Given the description of an element on the screen output the (x, y) to click on. 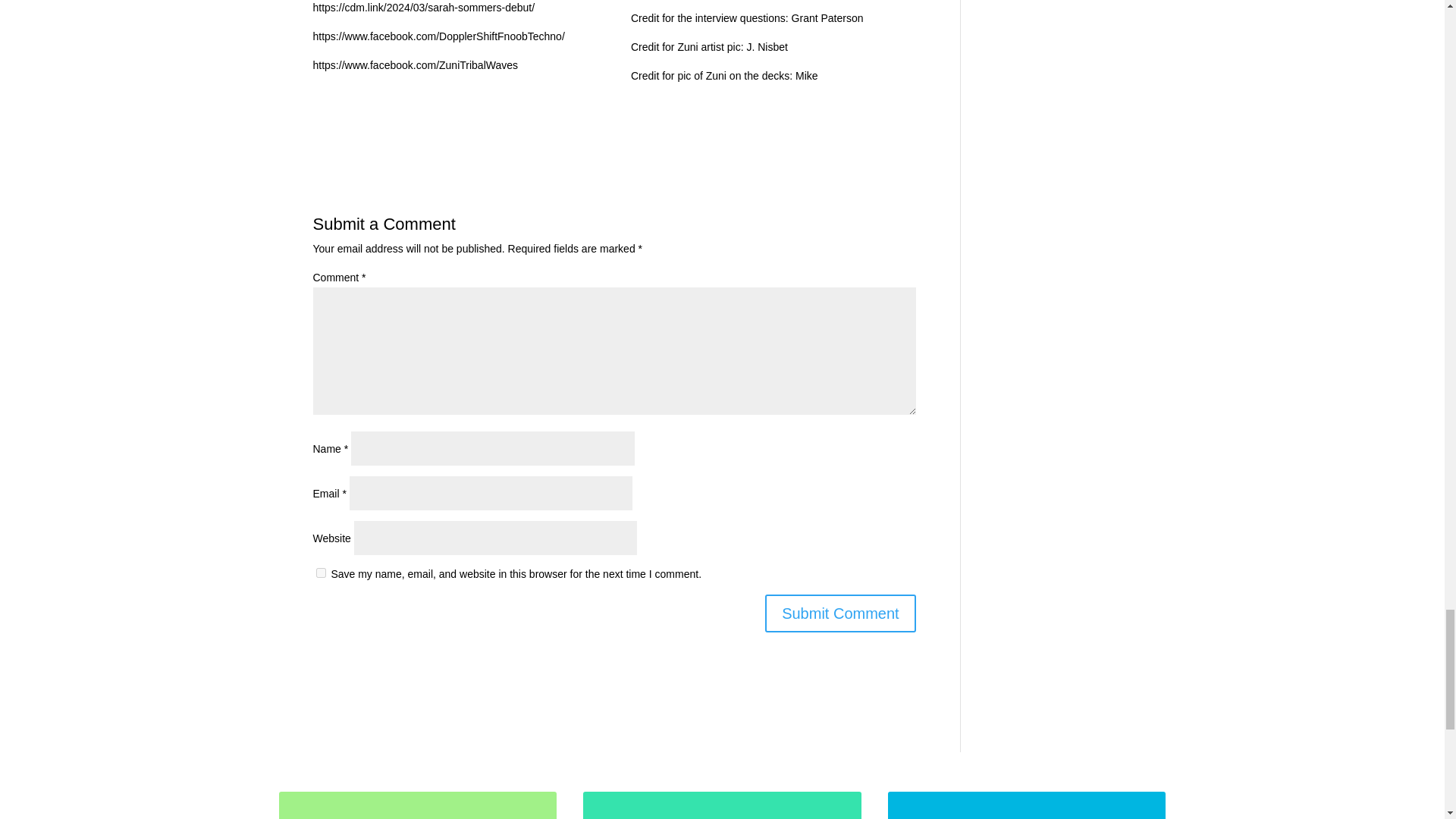
Page 1 (454, 42)
Submit Comment (840, 613)
yes (319, 573)
Submit Comment (840, 613)
